Given the description of an element on the screen output the (x, y) to click on. 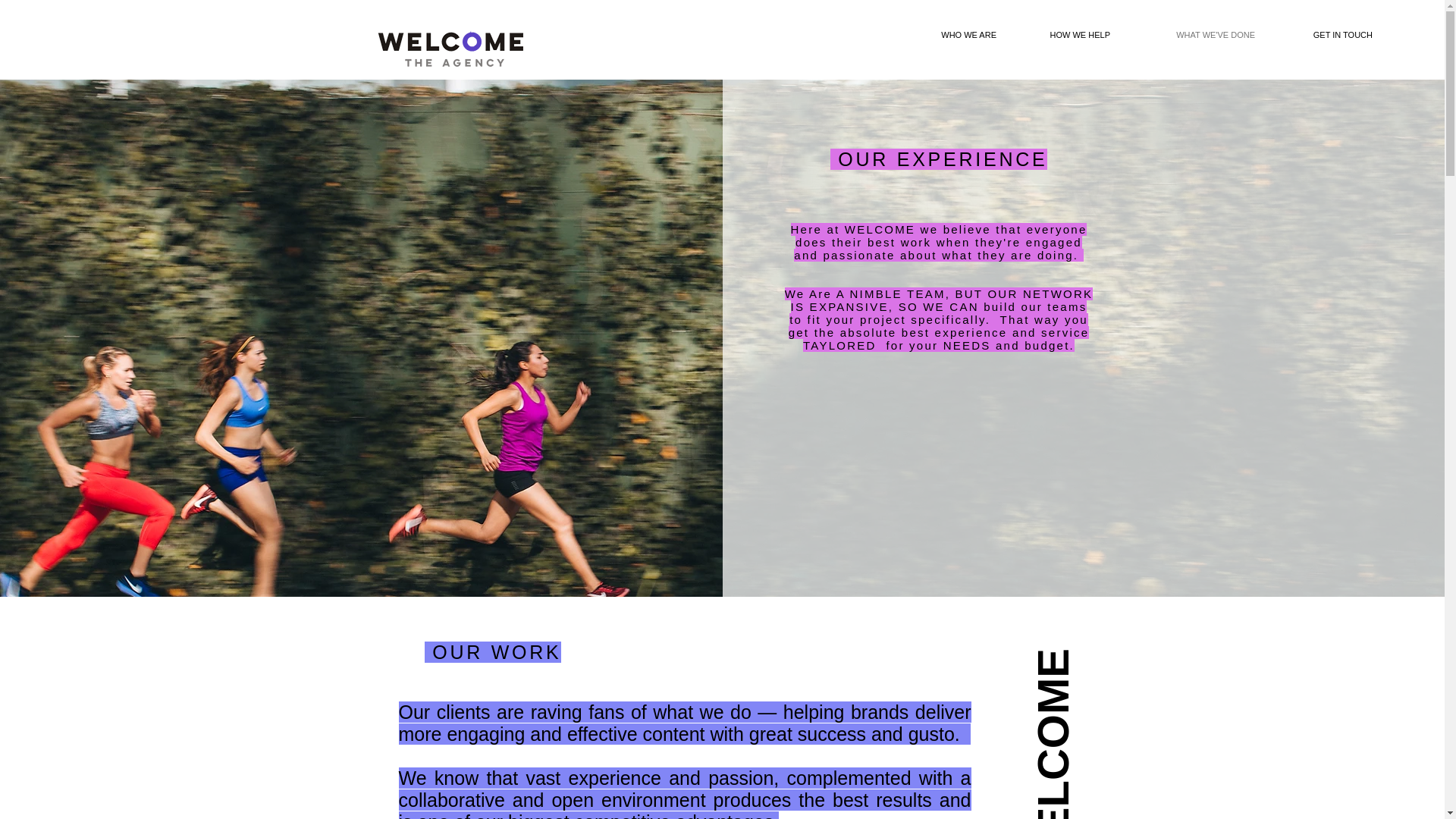
WHAT WE'VE DONE (1193, 34)
WHO WE ARE (954, 34)
HOW WE HELP (1064, 34)
GET IN TOUCH (1325, 34)
